Given the description of an element on the screen output the (x, y) to click on. 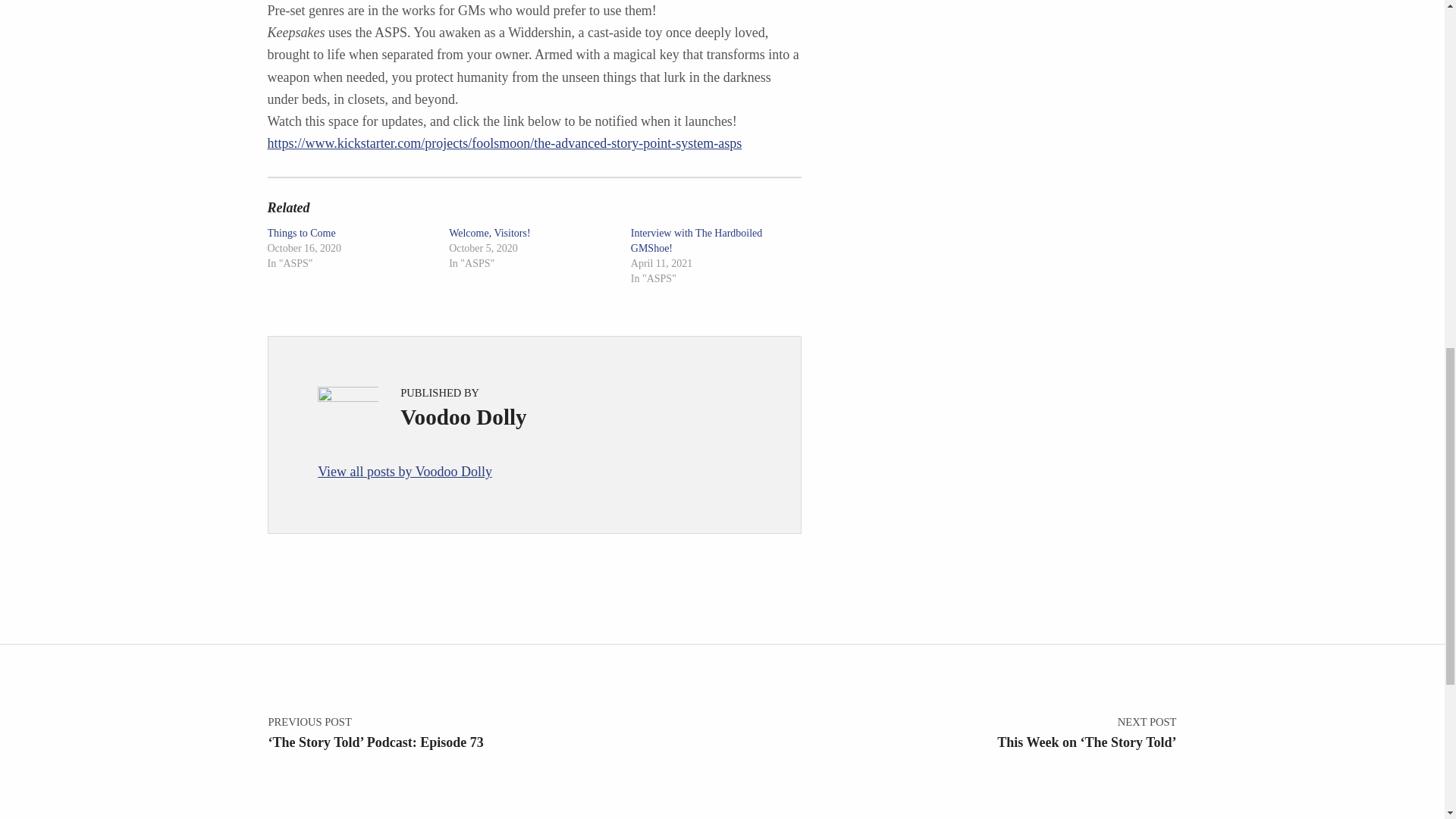
View all posts by Voodoo Dolly (534, 472)
Interview with The Hardboiled GMShoe! (696, 240)
Interview with The Hardboiled GMShoe! (696, 240)
Welcome, Visitors! (488, 233)
Things to Come (300, 233)
Things to Come (300, 233)
Welcome, Visitors! (488, 233)
